Given the description of an element on the screen output the (x, y) to click on. 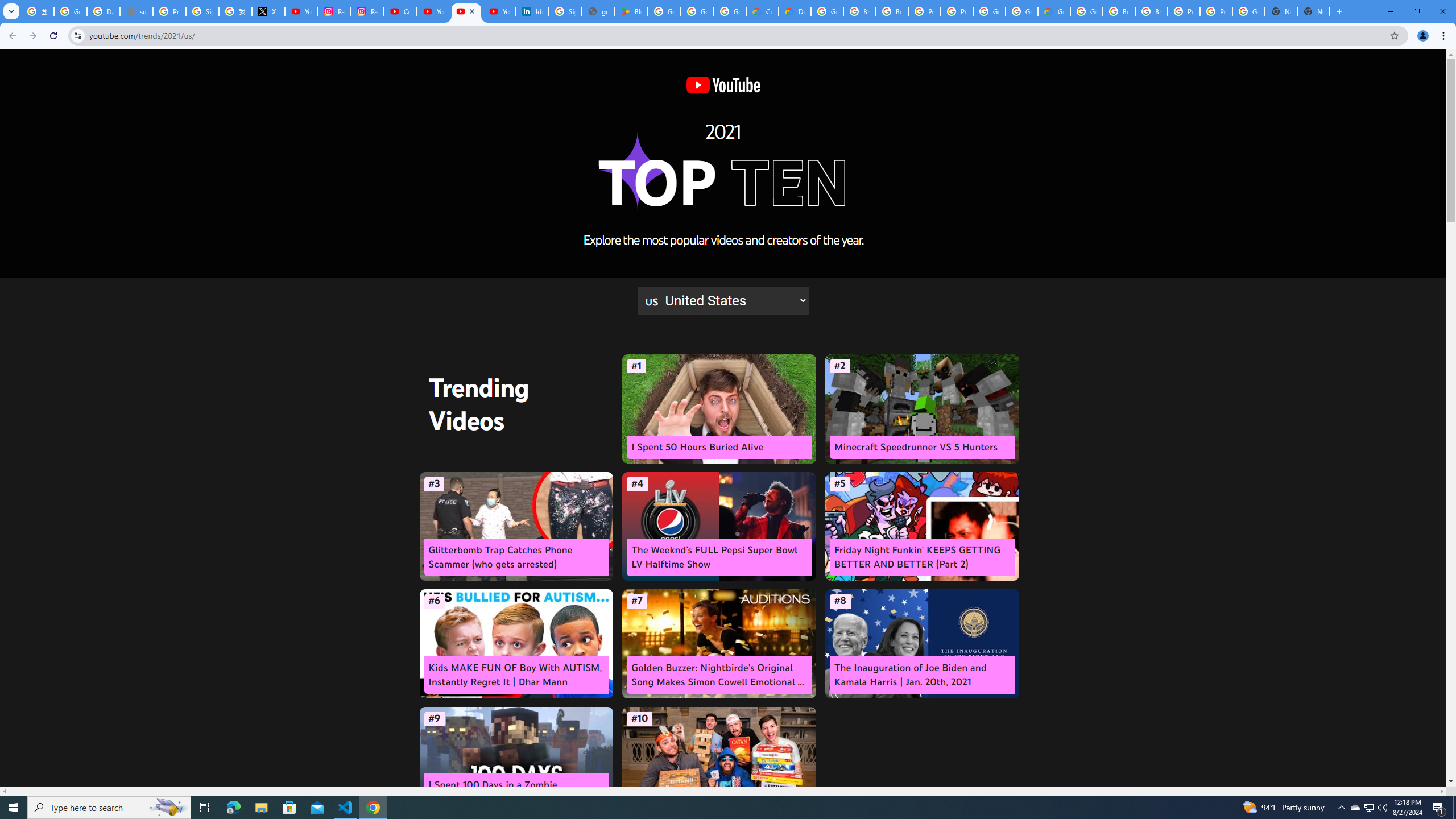
Google Cloud Platform (989, 11)
Google Cloud Platform (1248, 11)
